Given the description of an element on the screen output the (x, y) to click on. 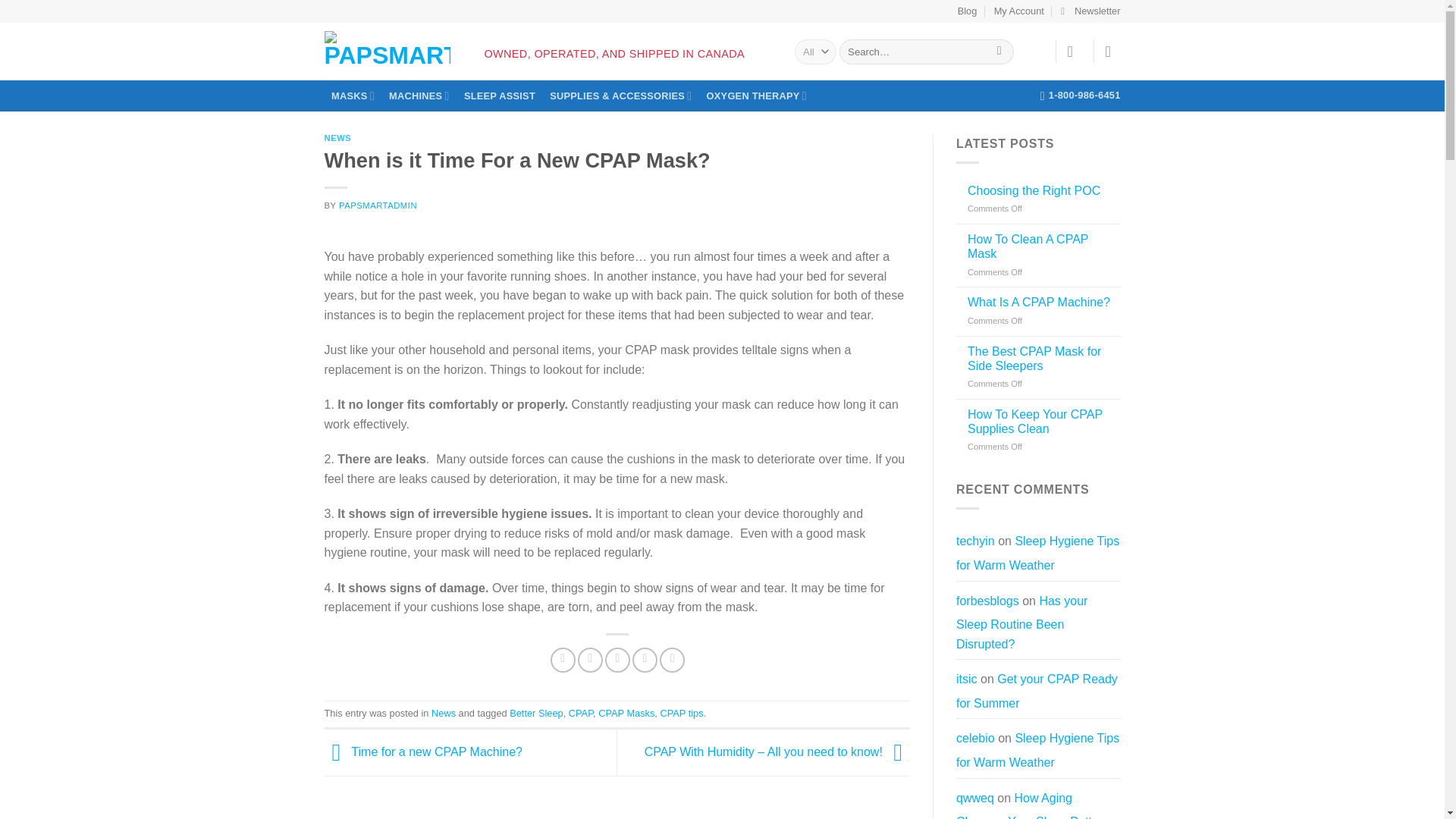
Share on LinkedIn (671, 659)
MACHINES (419, 96)
1-800-986-6451 (1081, 95)
My Account (1018, 11)
NEWS (338, 137)
PAPSmart Canada - Owned, operated, and shipped in Canada (386, 47)
Search (999, 52)
MASKS (352, 96)
Newsletter (1090, 11)
Share on Facebook (562, 659)
